Given the description of an element on the screen output the (x, y) to click on. 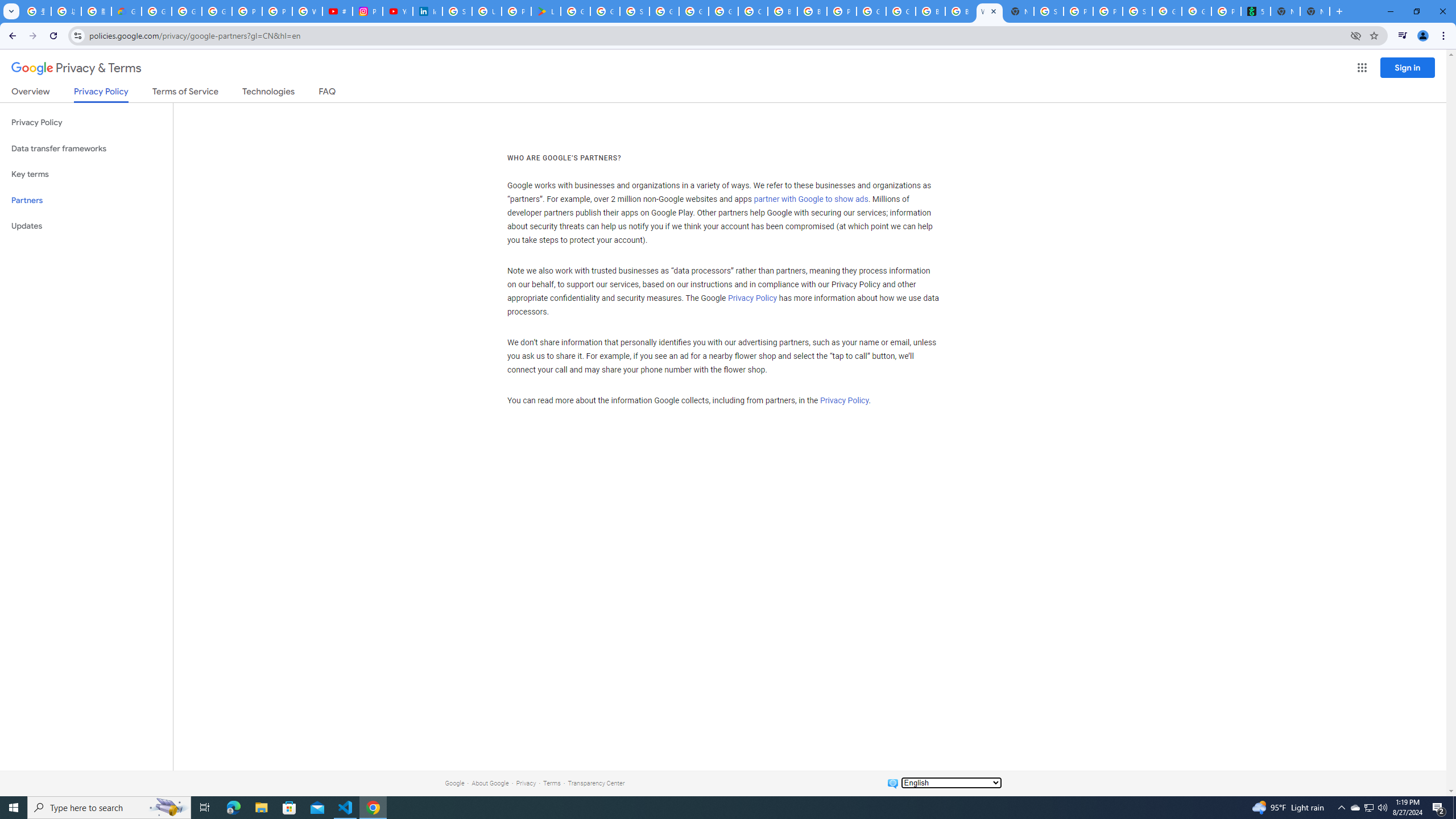
Google Cloud Platform (871, 11)
Sign in - Google Accounts (456, 11)
#nbabasketballhighlights - YouTube (337, 11)
